Given the description of an element on the screen output the (x, y) to click on. 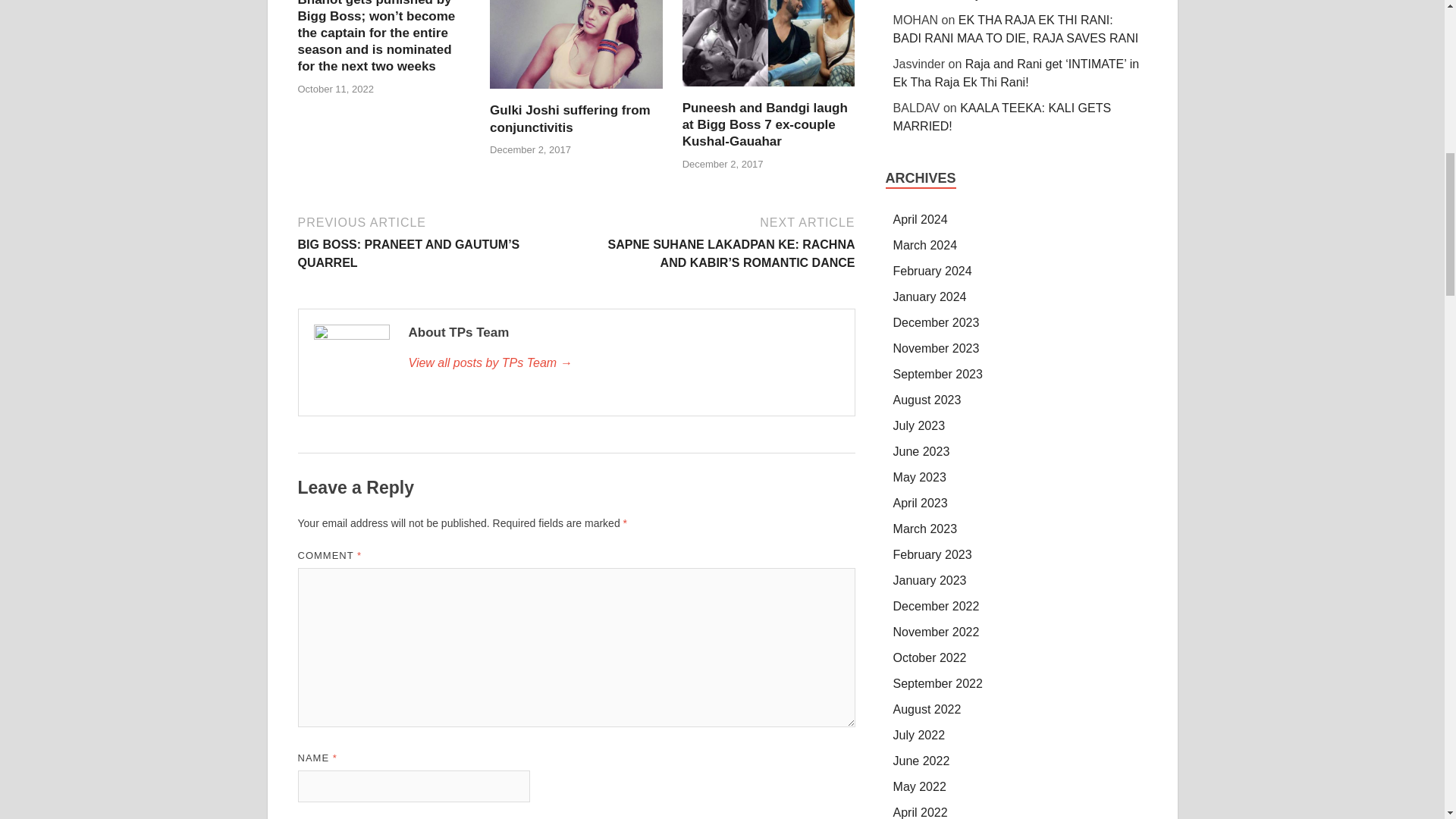
Gulki Joshi suffering from conjunctivitis (569, 118)
TPs Team (622, 362)
Gulki Joshi suffering from conjunctivitis (575, 92)
Gulki Joshi suffering from conjunctivitis (569, 118)
